Given the description of an element on the screen output the (x, y) to click on. 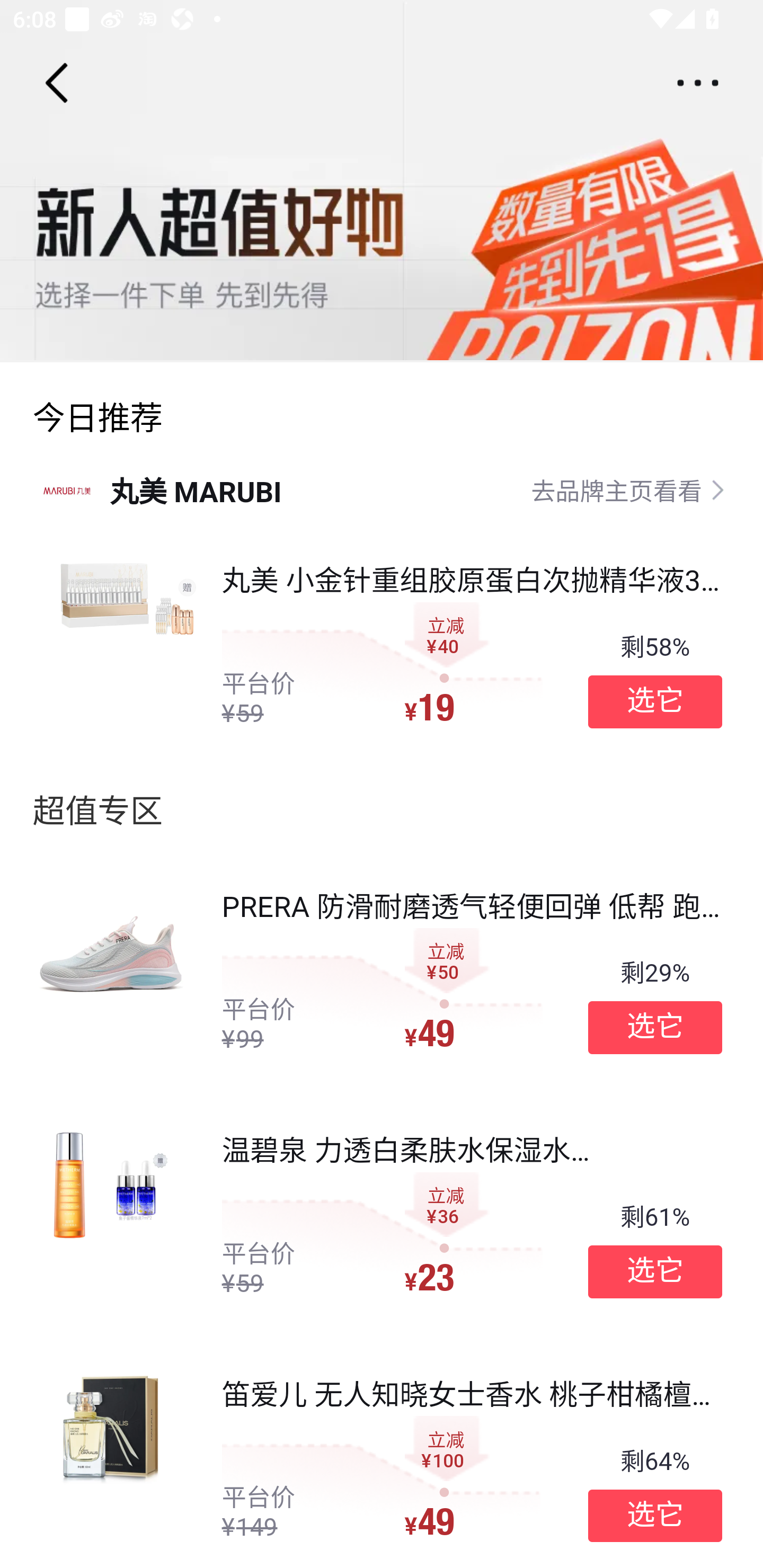
丸美 MARUBI去品牌主页看看 (381, 489)
选它 (654, 701)
选它 (654, 1027)
选它 (654, 1271)
选它 (654, 1515)
